Given the description of an element on the screen output the (x, y) to click on. 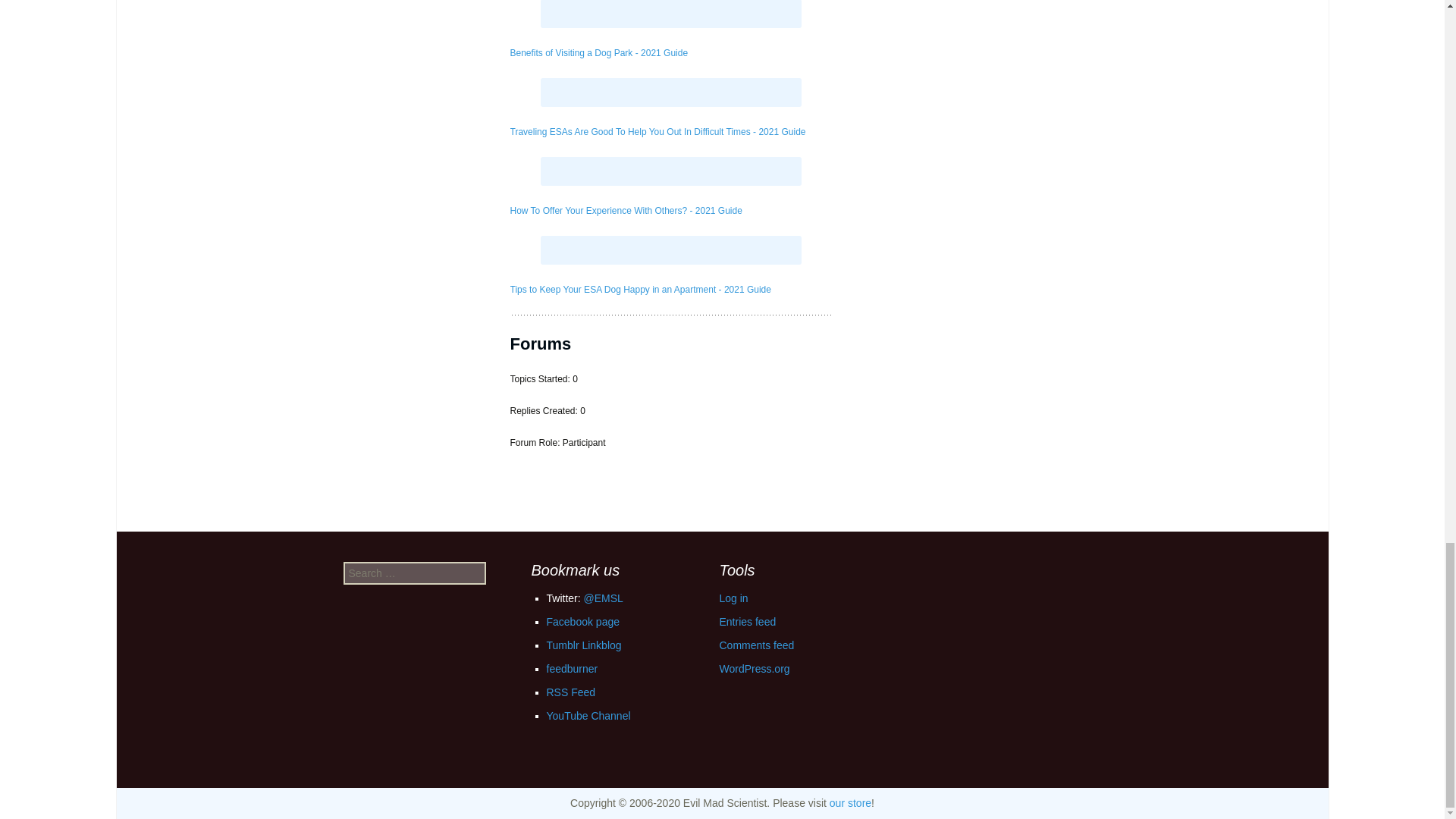
Tips to Keep Your ESA Dog Happy in an Apartment - 2021 Guide (639, 289)
Evil Mad Scientist Shop (849, 802)
Benefits of Visiting a Dog Park - 2021 Guide (598, 52)
How To Offer Your Experience With Others? - 2021 Guide (625, 210)
